Given the description of an element on the screen output the (x, y) to click on. 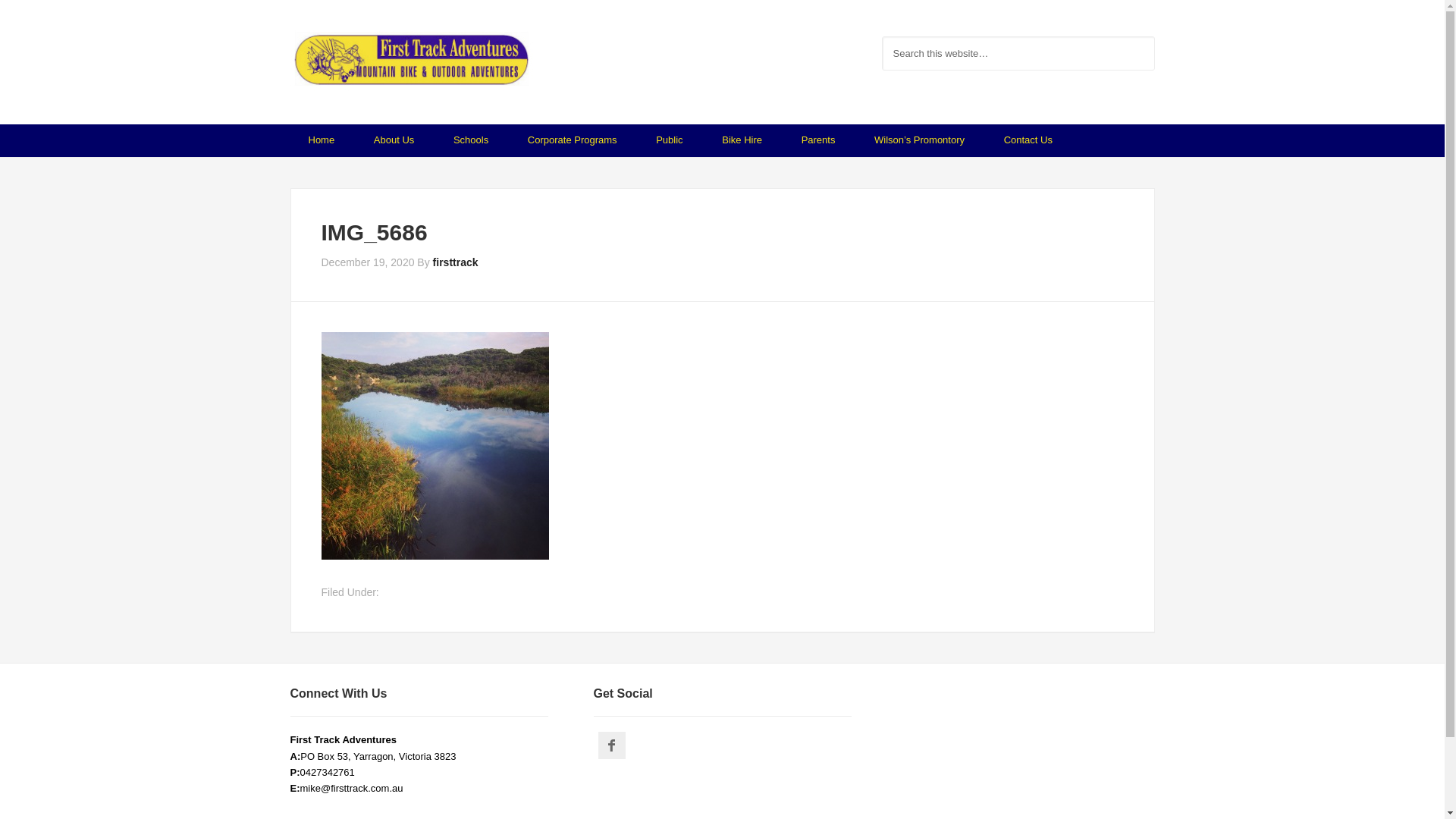
Bike Hire Element type: text (741, 140)
Contact Us Element type: text (1027, 140)
Public Element type: text (668, 140)
Corporate Programs Element type: text (572, 140)
Home Element type: text (320, 140)
Schools Element type: text (470, 140)
Search Element type: text (1154, 35)
About Us Element type: text (393, 140)
firsttrack Element type: text (455, 262)
Parents Element type: text (818, 140)
My CMS Element type: text (410, 60)
